Given the description of an element on the screen output the (x, y) to click on. 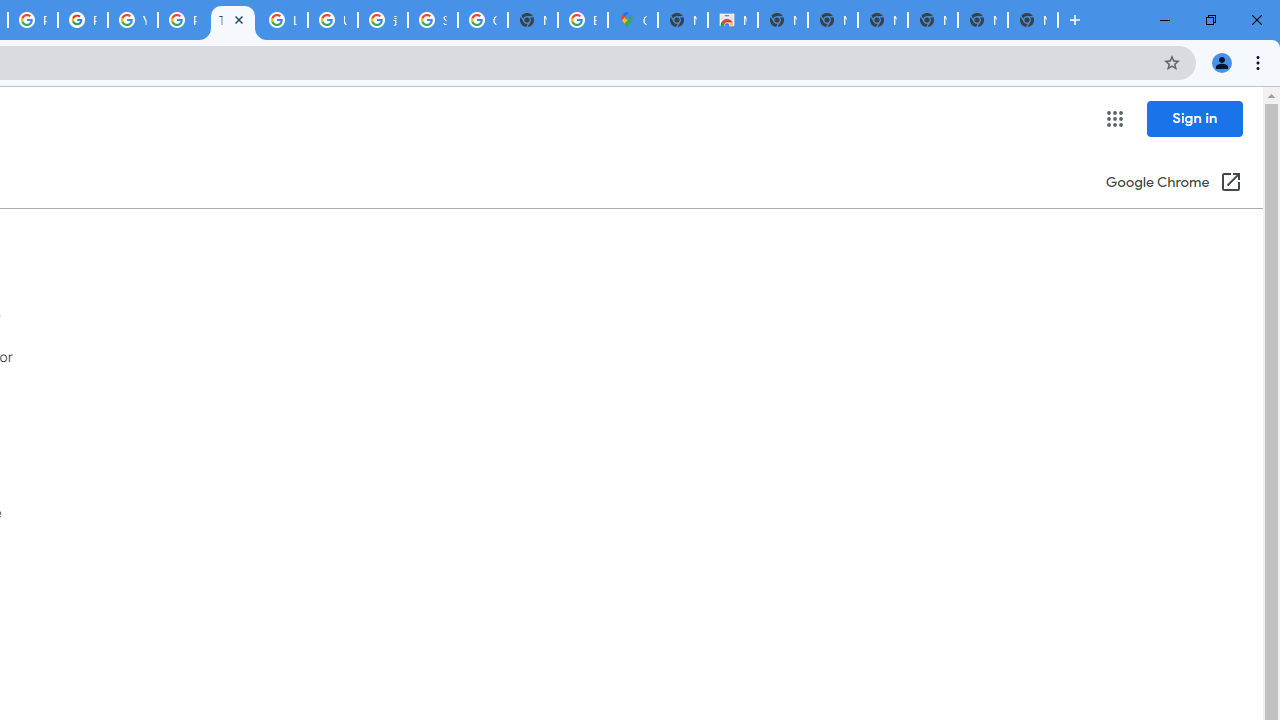
New Tab (1032, 20)
Explore new street-level details - Google Maps Help (582, 20)
Google Maps (632, 20)
Sign in - Google Accounts (433, 20)
Google Chrome (Open in a new window) (1173, 183)
New Tab (682, 20)
